Given the description of an element on the screen output the (x, y) to click on. 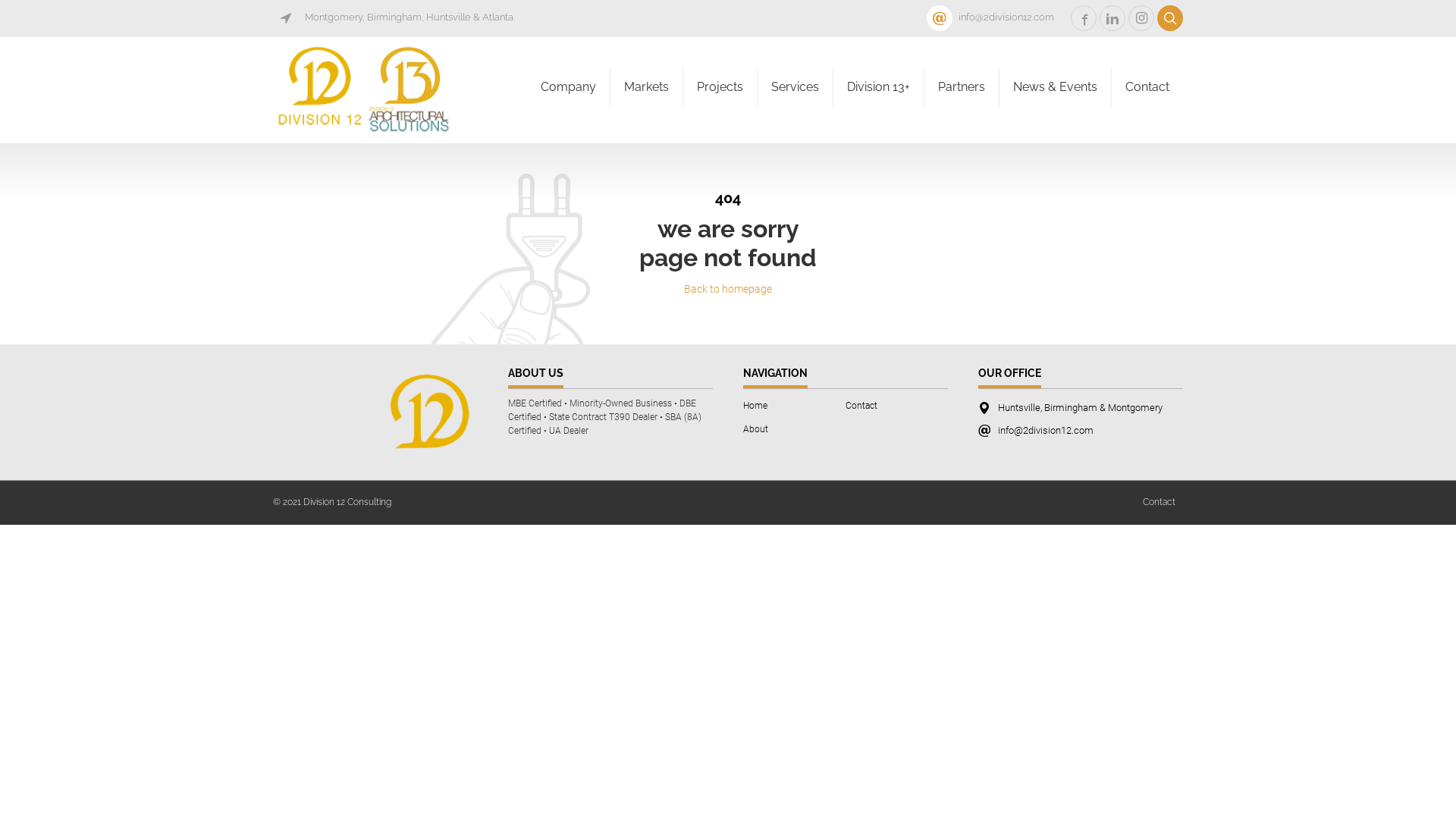
Huntsville, Birmingham & Montgomery Element type: text (1077, 407)
Back to homepage Element type: text (727, 288)
Markets Element type: text (646, 87)
News & Events Element type: text (1054, 87)
Projects Element type: text (719, 87)
Contact Element type: text (861, 405)
info@2division12.com Element type: text (996, 17)
Montgomery, Birmingham, Huntsville & Atlanta Element type: text (400, 17)
About Element type: text (755, 428)
info@2division12.com Element type: text (1042, 430)
Home Element type: text (755, 405)
Division 13+ Element type: text (878, 87)
Partners Element type: text (961, 87)
Contact Element type: text (1147, 87)
Company Element type: text (568, 87)
Contact Element type: text (1159, 501)
Services Element type: text (794, 87)
